Given the description of an element on the screen output the (x, y) to click on. 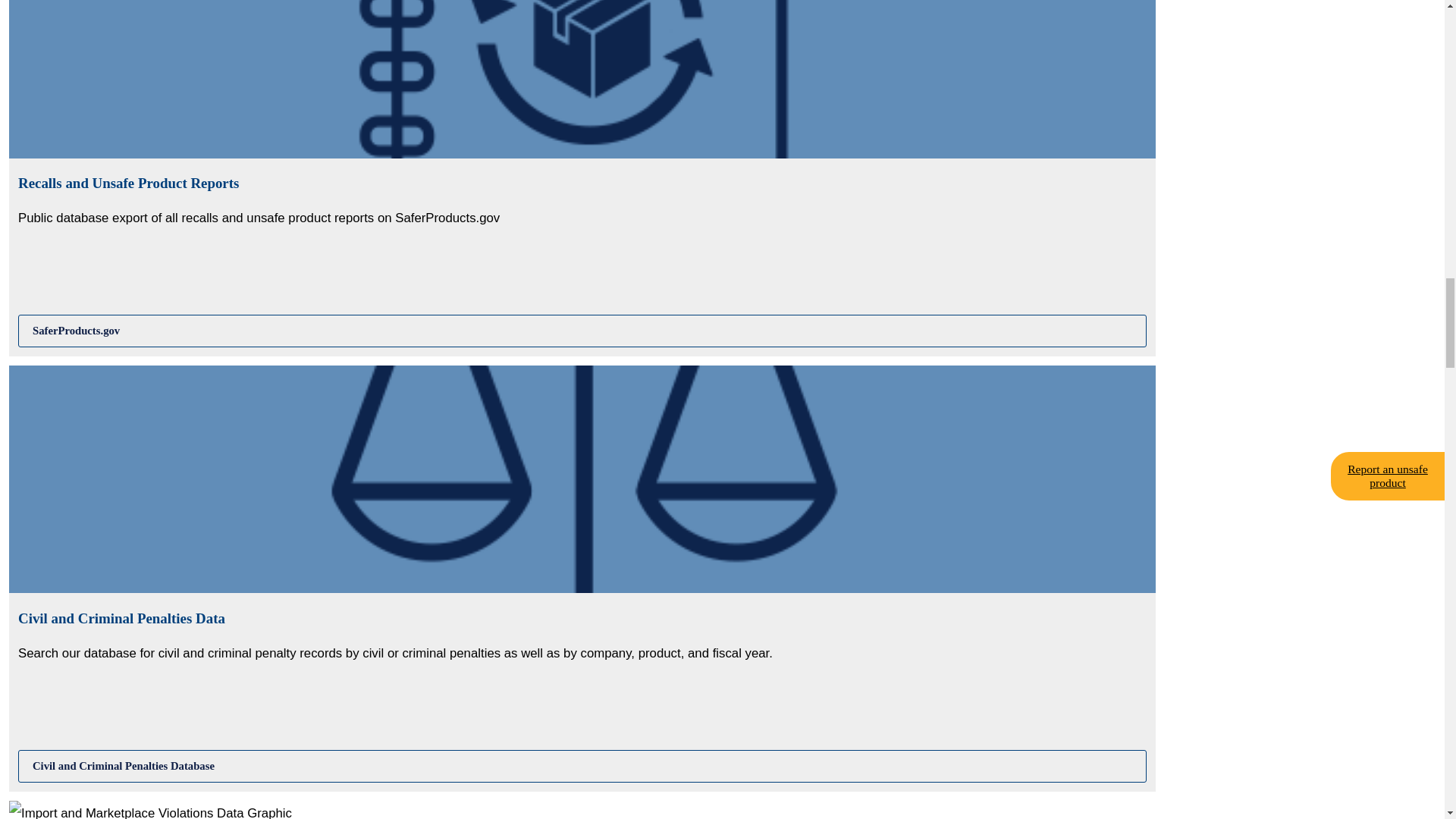
Civil and Criminal Penalties Database (582, 766)
Civil and Criminal Penalties Data (582, 766)
Recalls and Unsafe Product Reports (582, 330)
SaferProducts.gov (582, 330)
